Given the description of an element on the screen output the (x, y) to click on. 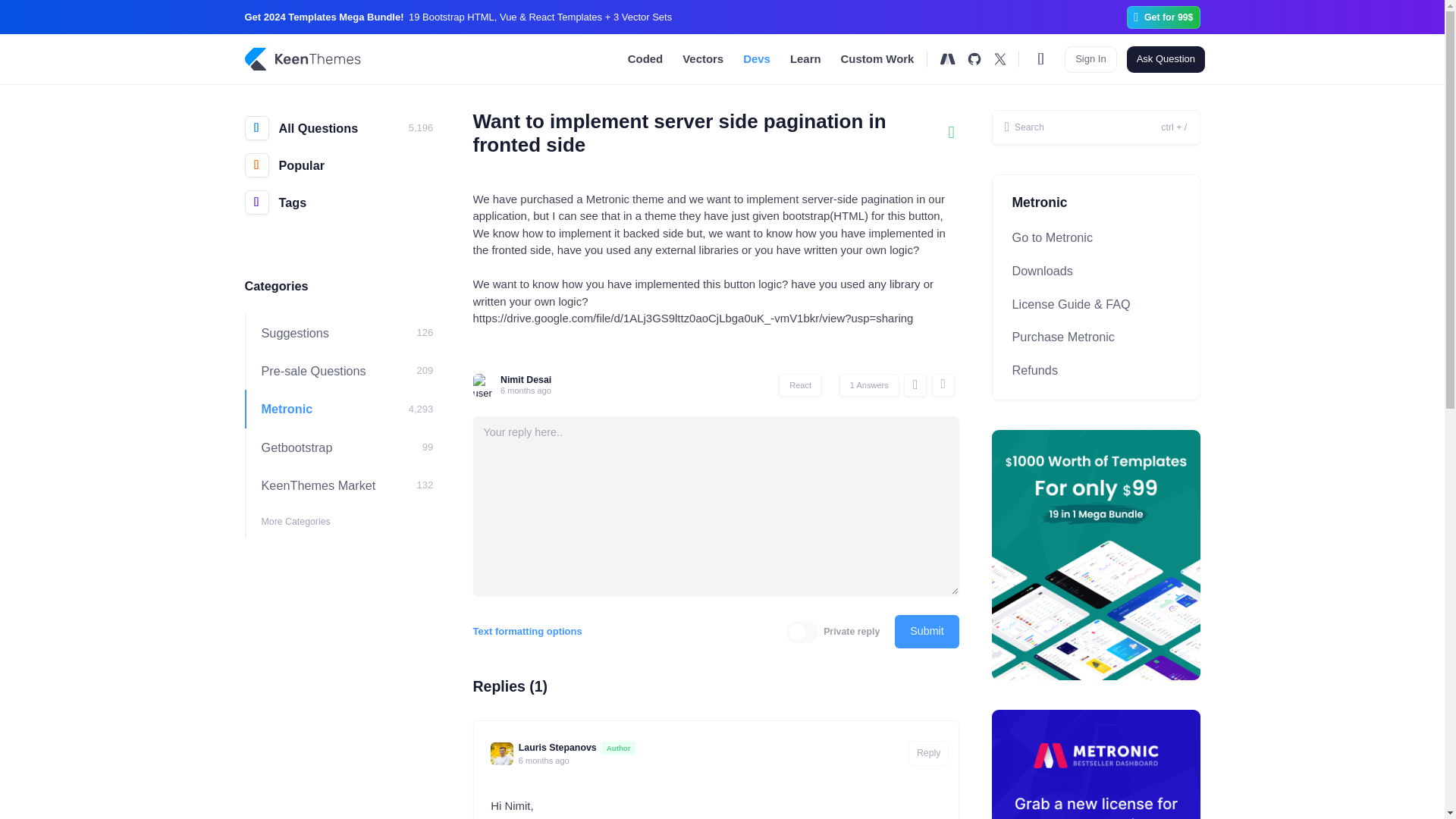
Custom Work (876, 59)
0 (802, 630)
